Given the description of an element on the screen output the (x, y) to click on. 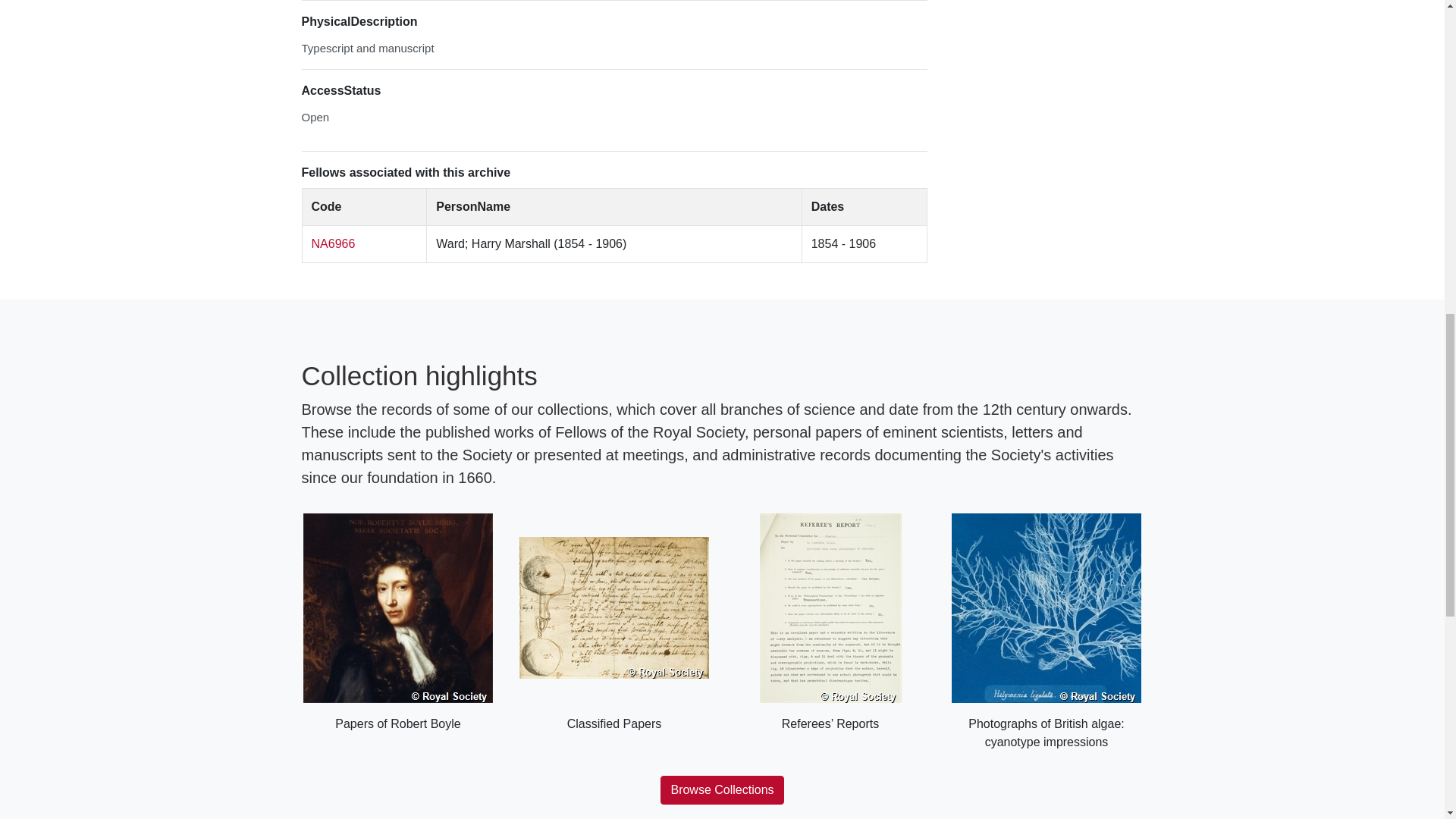
Browse Collections (722, 789)
NA6966 (333, 243)
Show related Persons records. (333, 243)
